Given the description of an element on the screen output the (x, y) to click on. 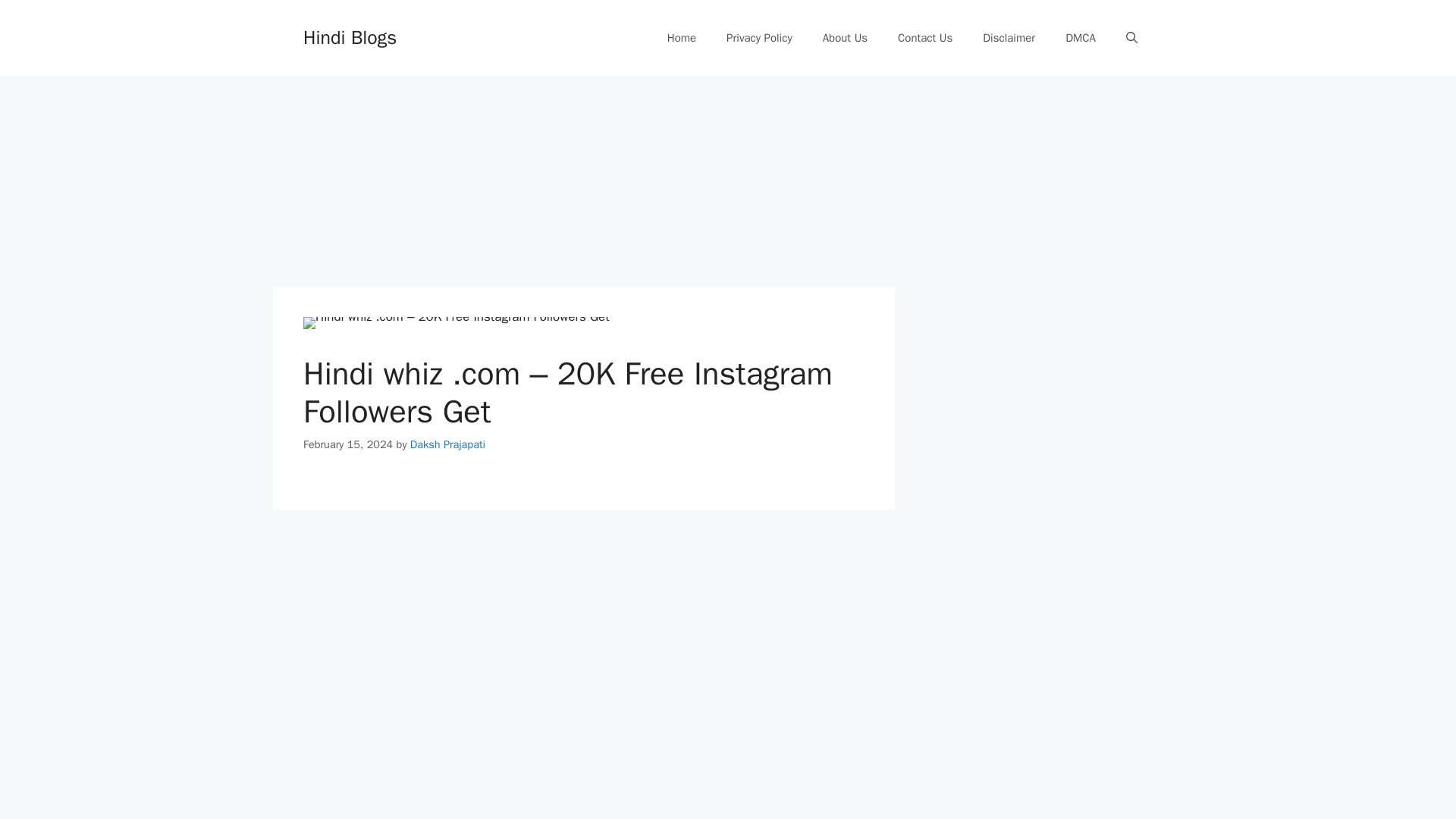
View all posts by Daksh Prajapati (447, 444)
About Us (845, 37)
Daksh Prajapati (447, 444)
Hindi Blogs (349, 37)
DMCA (1079, 37)
Privacy Policy (759, 37)
Disclaimer (1008, 37)
Contact Us (925, 37)
Home (681, 37)
